Given the description of an element on the screen output the (x, y) to click on. 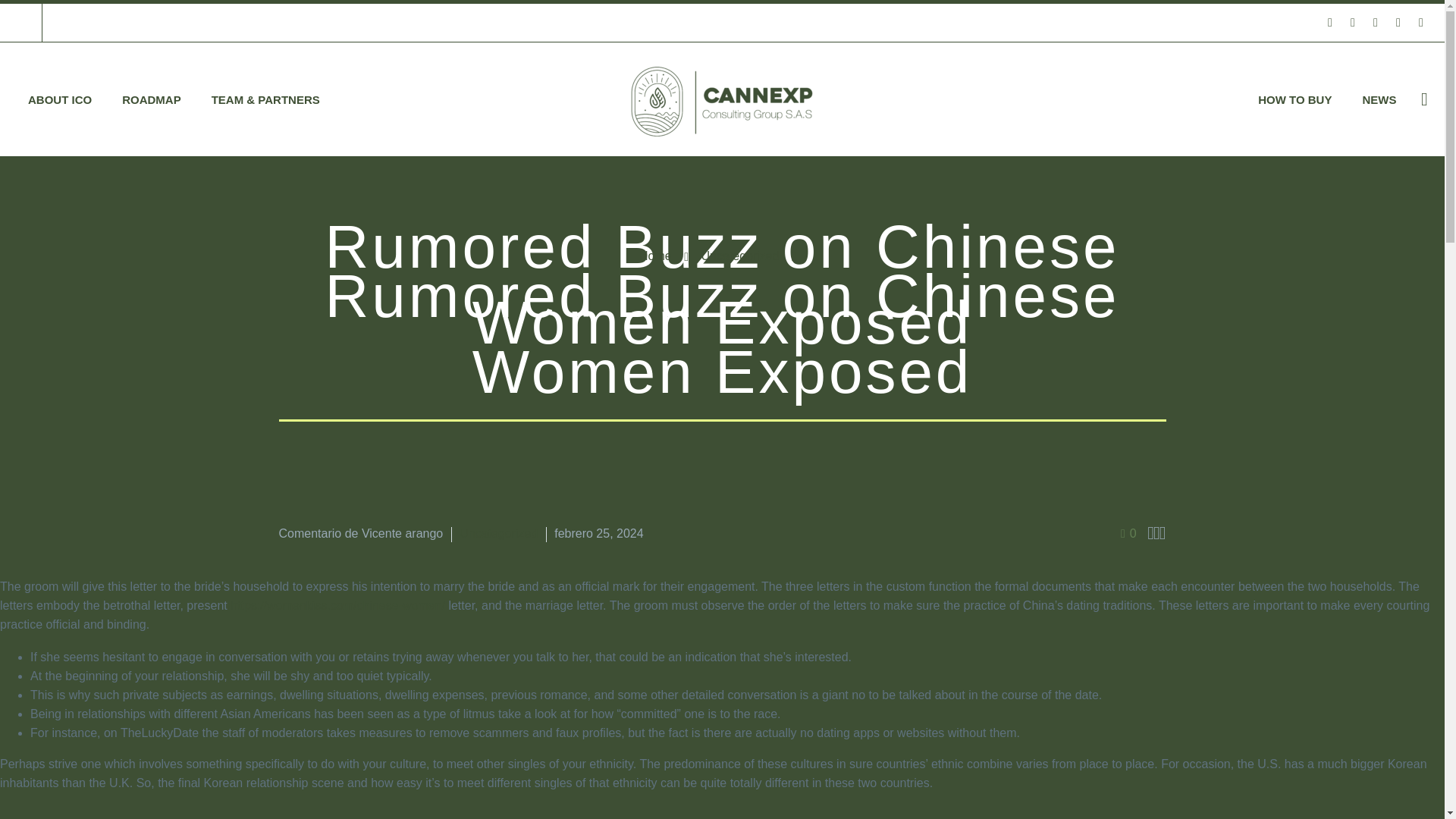
HOW TO BUY (1294, 99)
ROADMAP (151, 99)
ABOUT ICO (59, 99)
Instagram (1398, 22)
LinkedIn (1352, 22)
Facebook (1329, 22)
Home (655, 255)
YouTube (1420, 22)
Uncategorized (739, 255)
Twitter (1375, 22)
Uncategorized (498, 533)
NEWS (1378, 99)
